Given the description of an element on the screen output the (x, y) to click on. 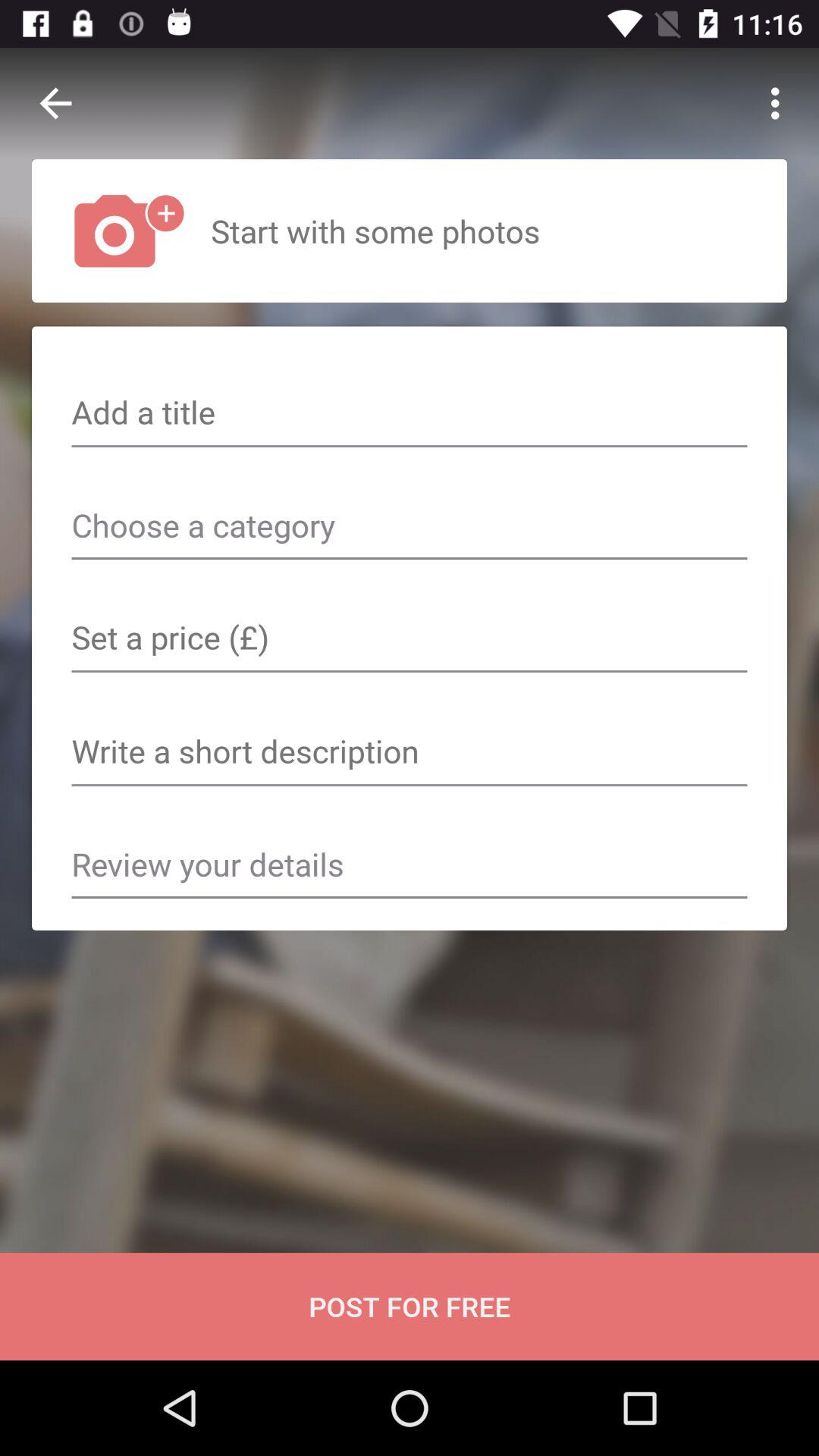
enter title (409, 413)
